Given the description of an element on the screen output the (x, y) to click on. 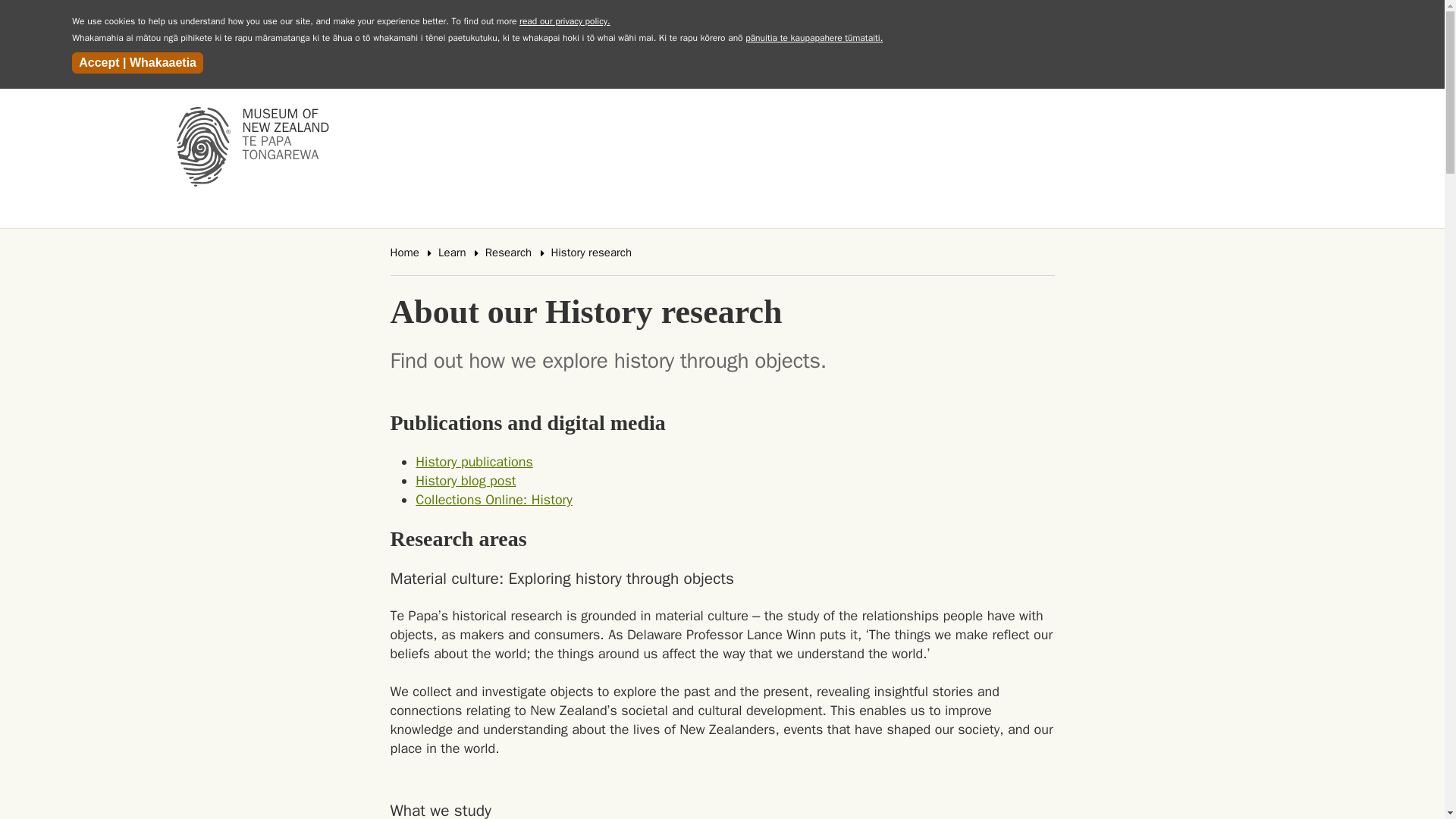
History research (590, 252)
Collections Online: History (493, 499)
Learn (451, 252)
read our privacy policy. (564, 21)
Research (507, 252)
Home (404, 252)
History blog post (256, 149)
History publications (464, 480)
